Given the description of an element on the screen output the (x, y) to click on. 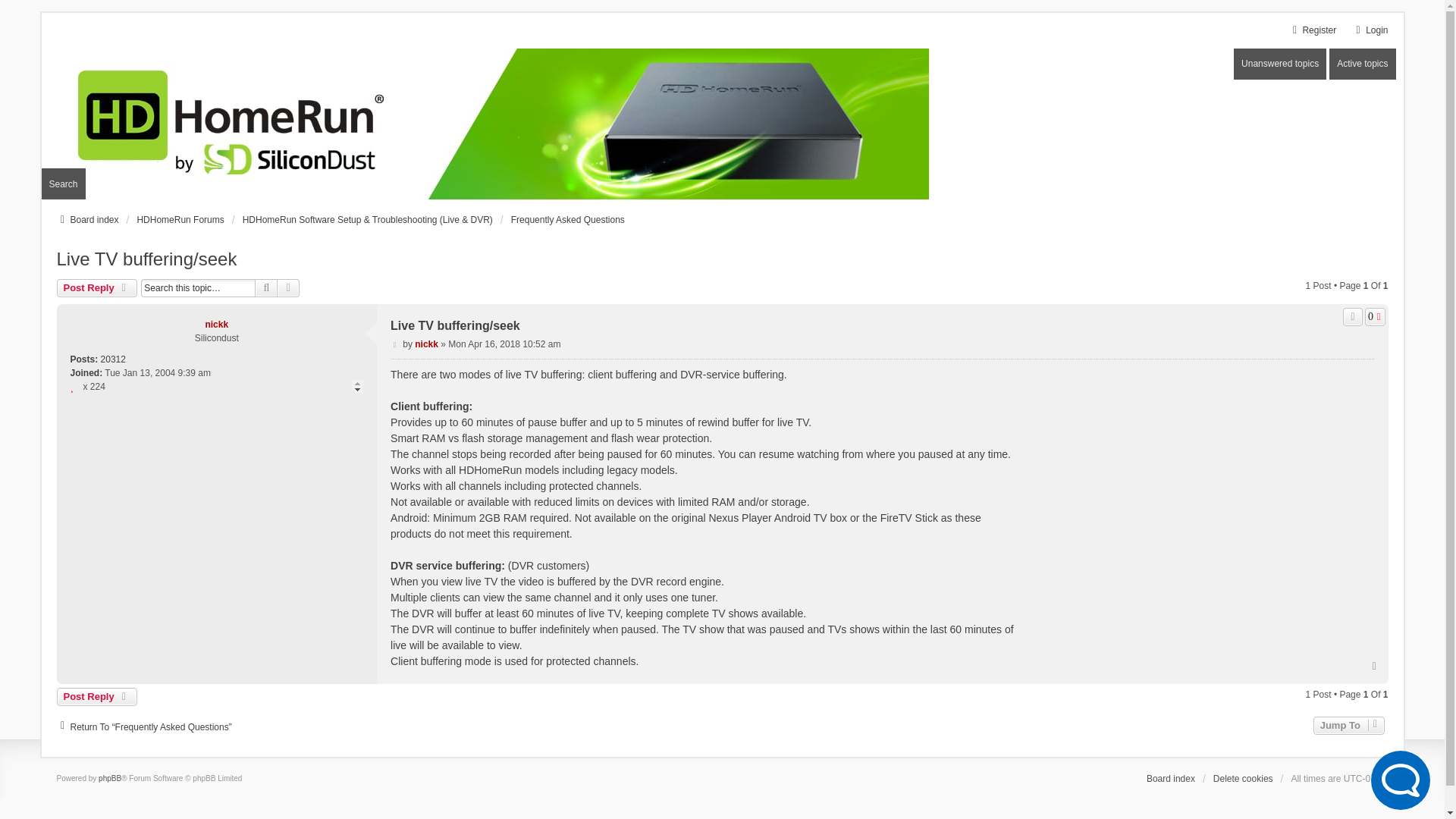
HDHomeRun Forums (180, 219)
login to like this post (1375, 316)
Search (266, 288)
Top (1374, 665)
UTC-7 (1366, 778)
Frequently Asked Questions (567, 219)
Login (1369, 29)
Top (1374, 665)
nickk (216, 324)
Search (62, 183)
Board index (86, 219)
Unanswered topics (1279, 63)
Active topics (1361, 63)
Register (1312, 29)
Reply with quote (1352, 316)
